Given the description of an element on the screen output the (x, y) to click on. 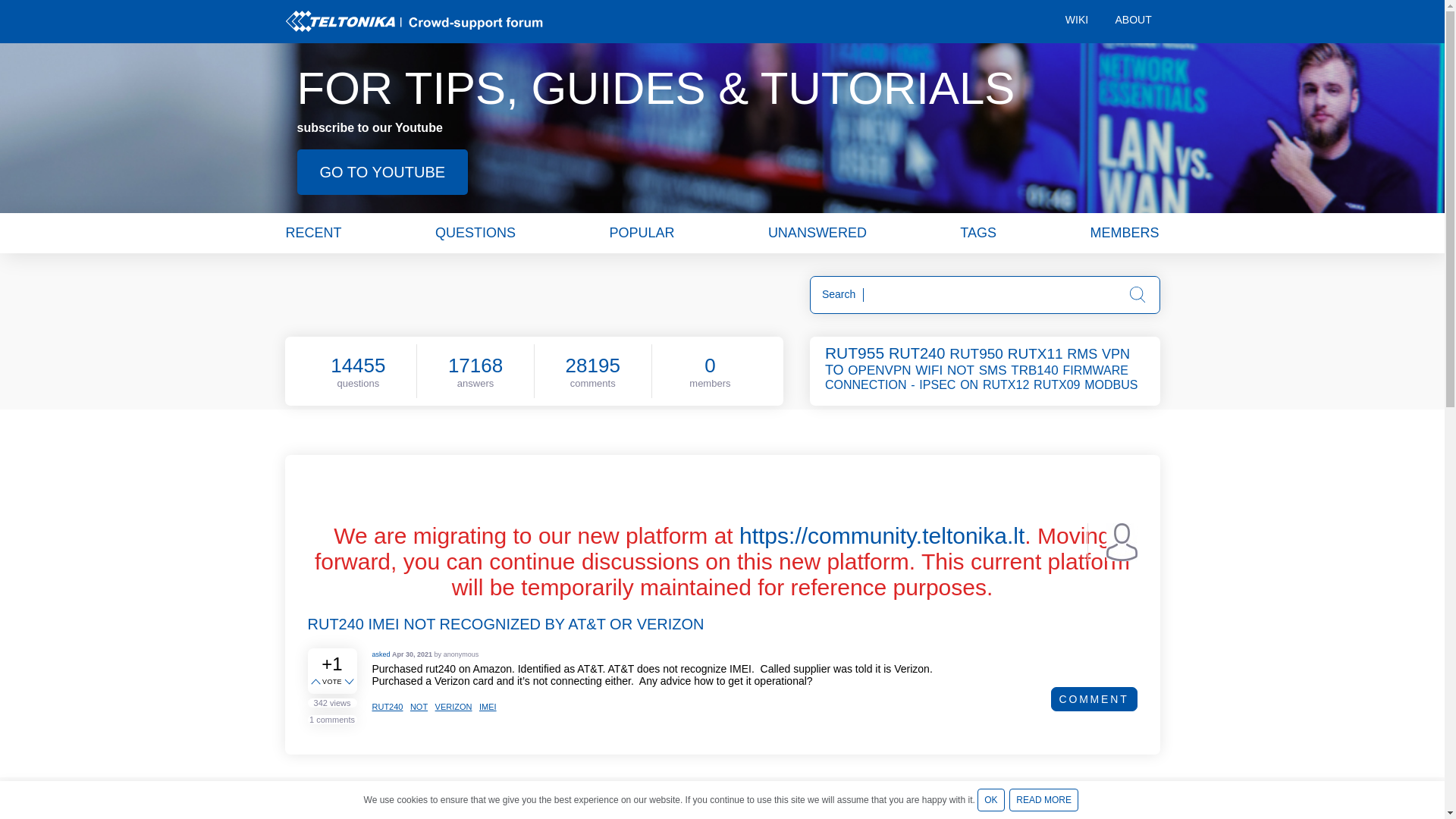
RUTX09 (1057, 384)
QUESTIONS (475, 232)
RUT240 (917, 352)
RUTX11 (1036, 353)
ABOUT (1131, 21)
TO (835, 369)
UNANSWERED (817, 232)
Click to vote up (317, 682)
Answer this question (728, 808)
answer (728, 808)
asked (380, 654)
NOT (961, 370)
RECENT (312, 232)
RUTX12 (1006, 384)
TAGS (977, 232)
